Given the description of an element on the screen output the (x, y) to click on. 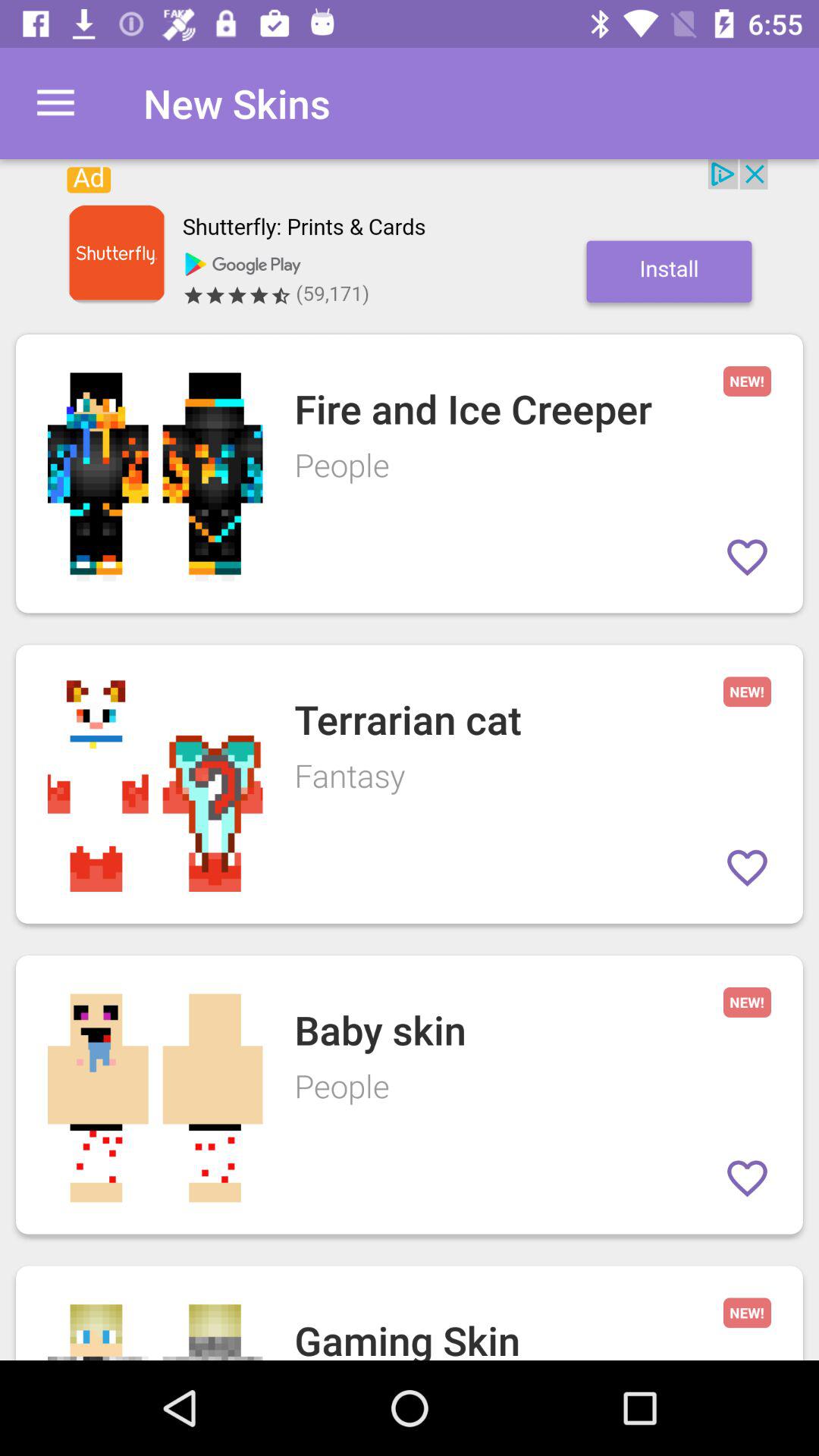
add to favorite (747, 557)
